Given the description of an element on the screen output the (x, y) to click on. 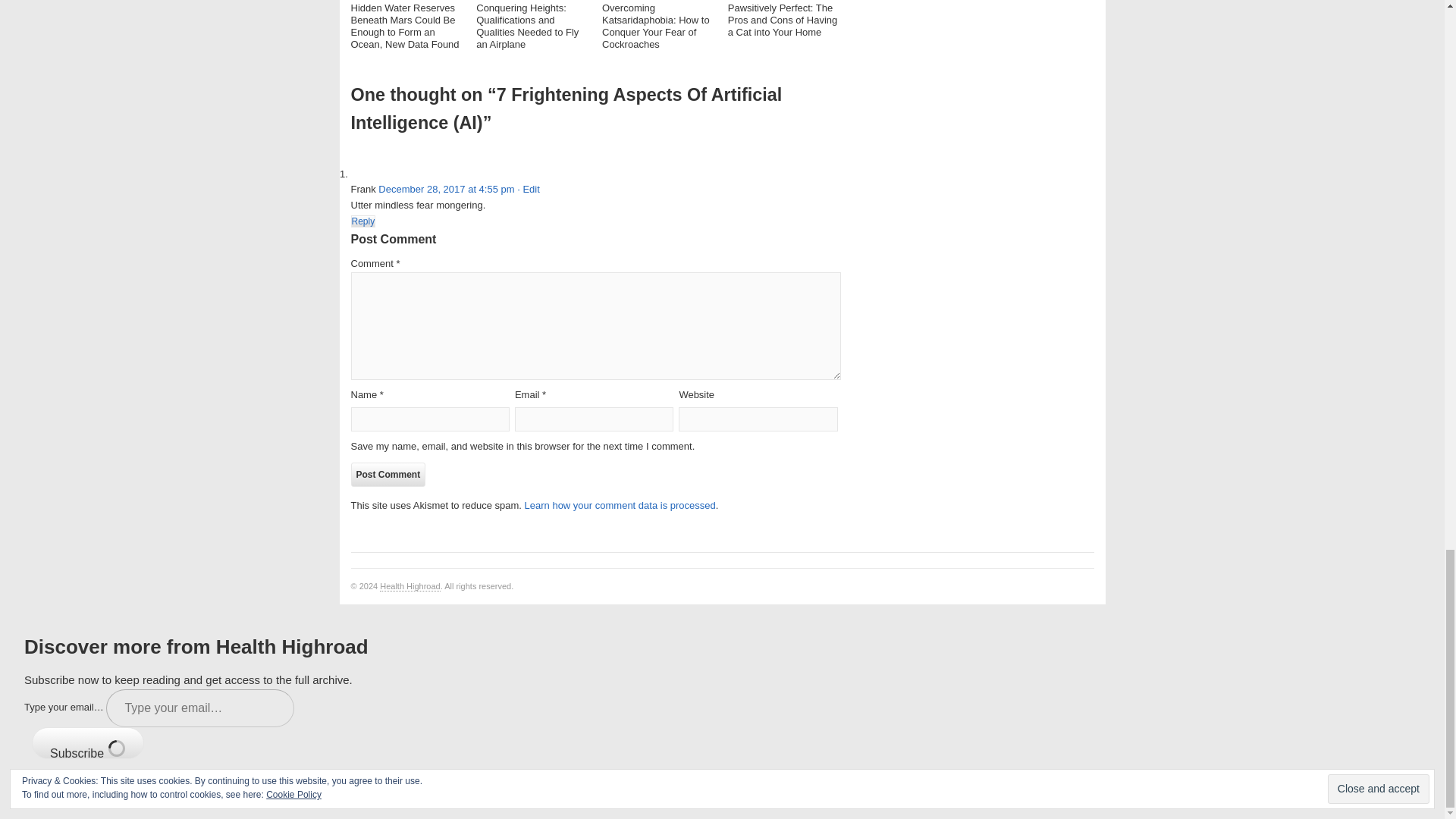
Post Comment (387, 474)
Your Highroad to Health (410, 586)
Edit Comment (528, 188)
Please fill in this field. (200, 708)
